Given the description of an element on the screen output the (x, y) to click on. 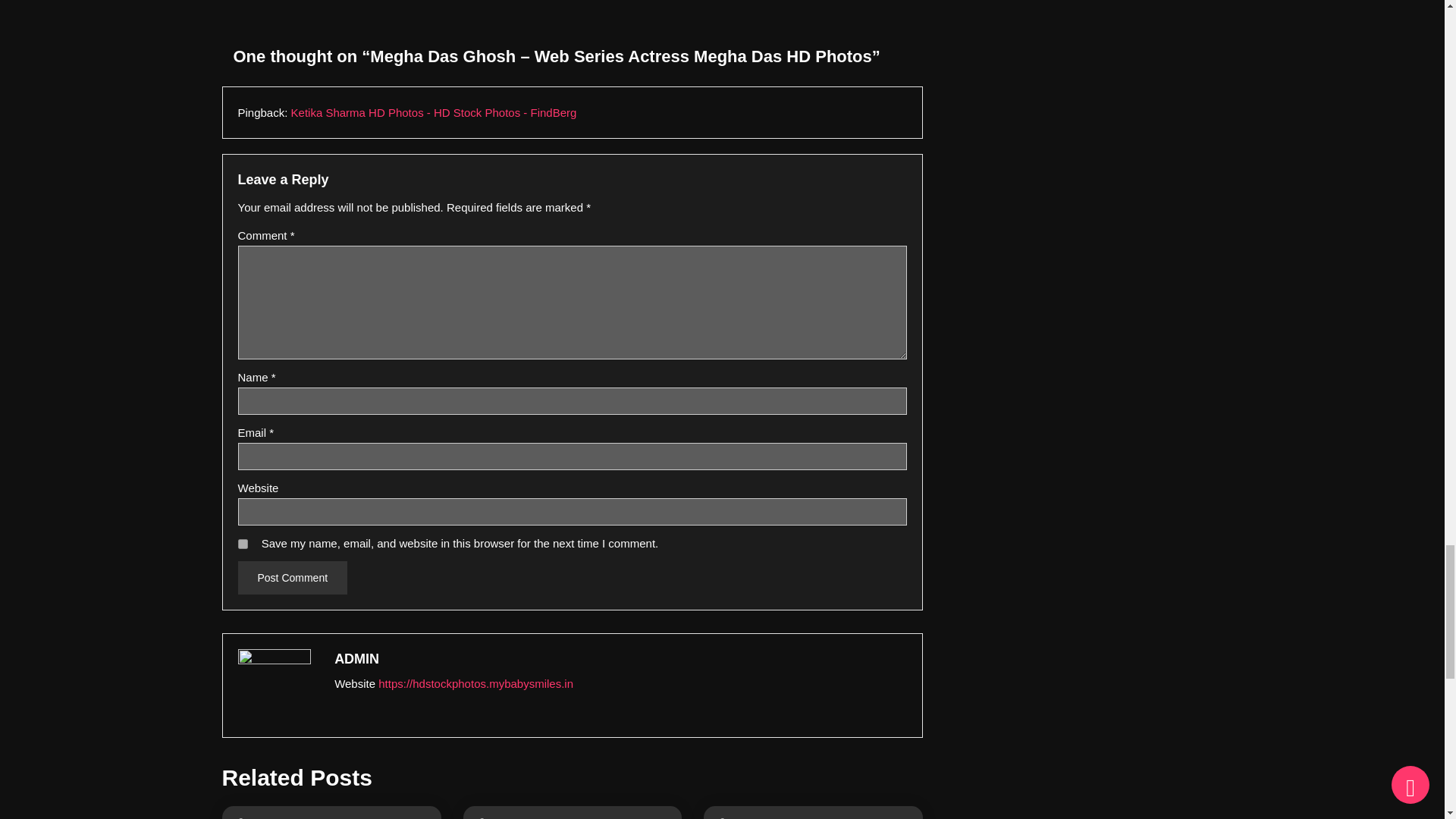
Posts by admin (618, 659)
yes (242, 543)
Post Comment (292, 577)
